Given the description of an element on the screen output the (x, y) to click on. 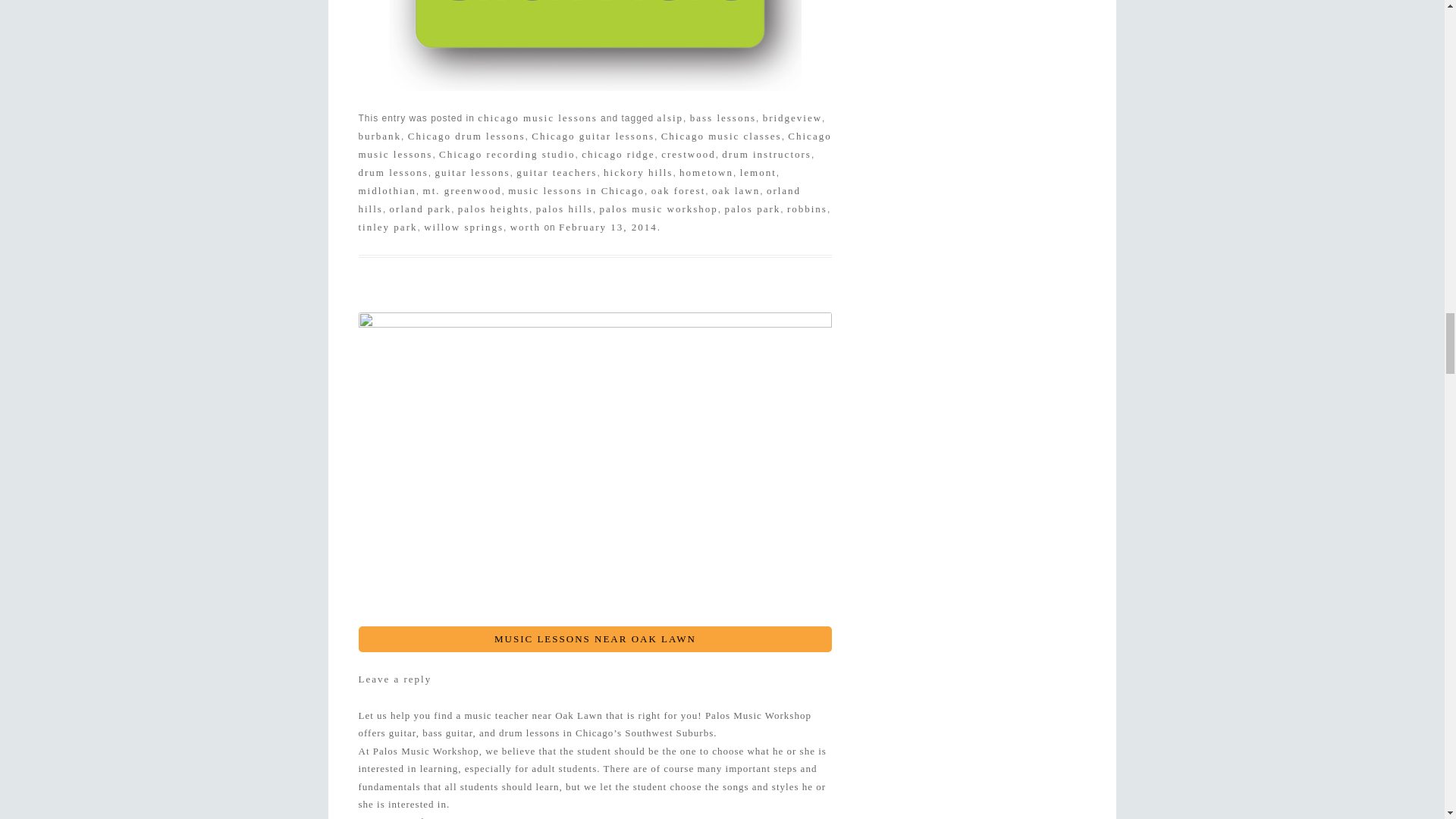
Contact (594, 45)
2:08 pm (608, 226)
